Given the description of an element on the screen output the (x, y) to click on. 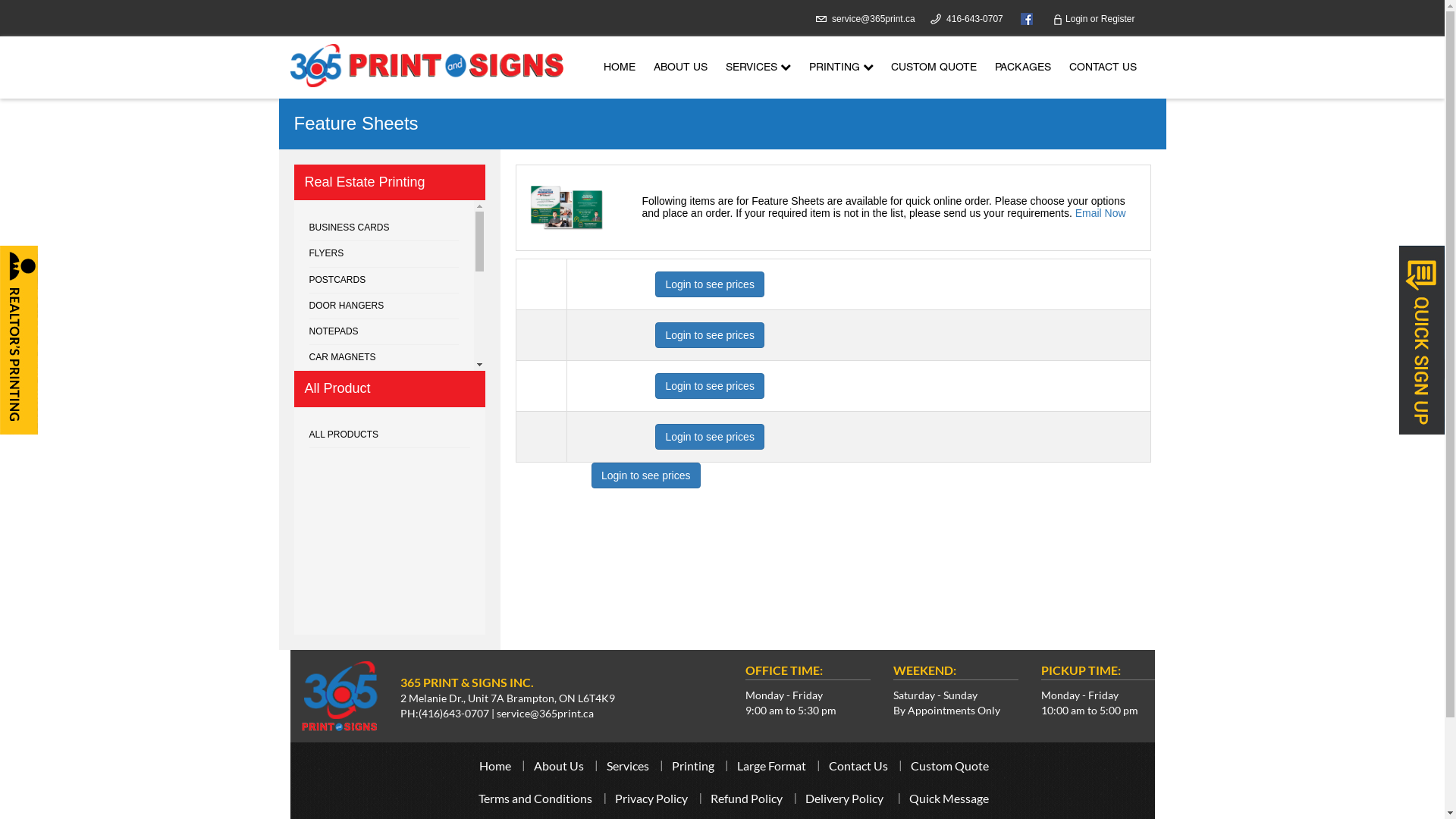
ABOUT US Element type: text (680, 67)
NOTEPADS Element type: text (384, 332)
Services Element type: text (627, 765)
SERVICES Element type: text (757, 67)
(416)643-0707 Element type: text (453, 712)
POSTCARDS Element type: text (384, 280)
Terms and Conditions Element type: text (535, 797)
BUSINESS CARDS Element type: text (384, 228)
About Us Element type: text (558, 765)
Printing Element type: text (692, 765)
SPECIALTY BUS CARD Element type: text (384, 513)
PRINTING Element type: text (840, 67)
LETTER HEADS Element type: text (384, 435)
Login to see prices Element type: text (709, 284)
Login or Register Element type: text (1093, 18)
service@365print.ca Element type: text (873, 18)
Login to see prices Element type: text (645, 475)
FEATURE SHEETS Element type: text (384, 409)
service@365print.ca Element type: text (544, 712)
Delivery Policy Element type: text (844, 797)
Login to see prices Element type: text (709, 436)
Quick Message Element type: text (948, 797)
Custom Quote Element type: text (949, 765)
ALL PRODUCTS Element type: text (389, 435)
PACKAGES Element type: text (1022, 67)
COROPLAST LAWN SIGNS Element type: text (384, 564)
ROLLUP BANNERS Element type: text (384, 383)
Contact Us Element type: text (857, 765)
FLYERS Element type: text (384, 253)
Login to see prices Element type: text (709, 385)
RIDERS Element type: text (384, 590)
Email Now Element type: text (1100, 213)
Login to see prices Element type: text (709, 335)
416-643-0707 Element type: text (974, 18)
Refund Policy Element type: text (746, 797)
Home Element type: text (495, 765)
CAR MAGNETS Element type: text (384, 357)
CUSTOM QUOTE Element type: text (933, 67)
OPEN HOUSE SIGNS Element type: text (384, 539)
HOME Element type: text (619, 67)
DOOR HANGERS Element type: text (384, 306)
Privacy Policy Element type: text (651, 797)
PRESENTATION FOLDERS Element type: text (384, 461)
CONTACT US Element type: text (1102, 67)
FOR SALE SIGNS Element type: text (384, 487)
Facebook Element type: hover (1022, 18)
Large Format Element type: text (771, 765)
